Given the description of an element on the screen output the (x, y) to click on. 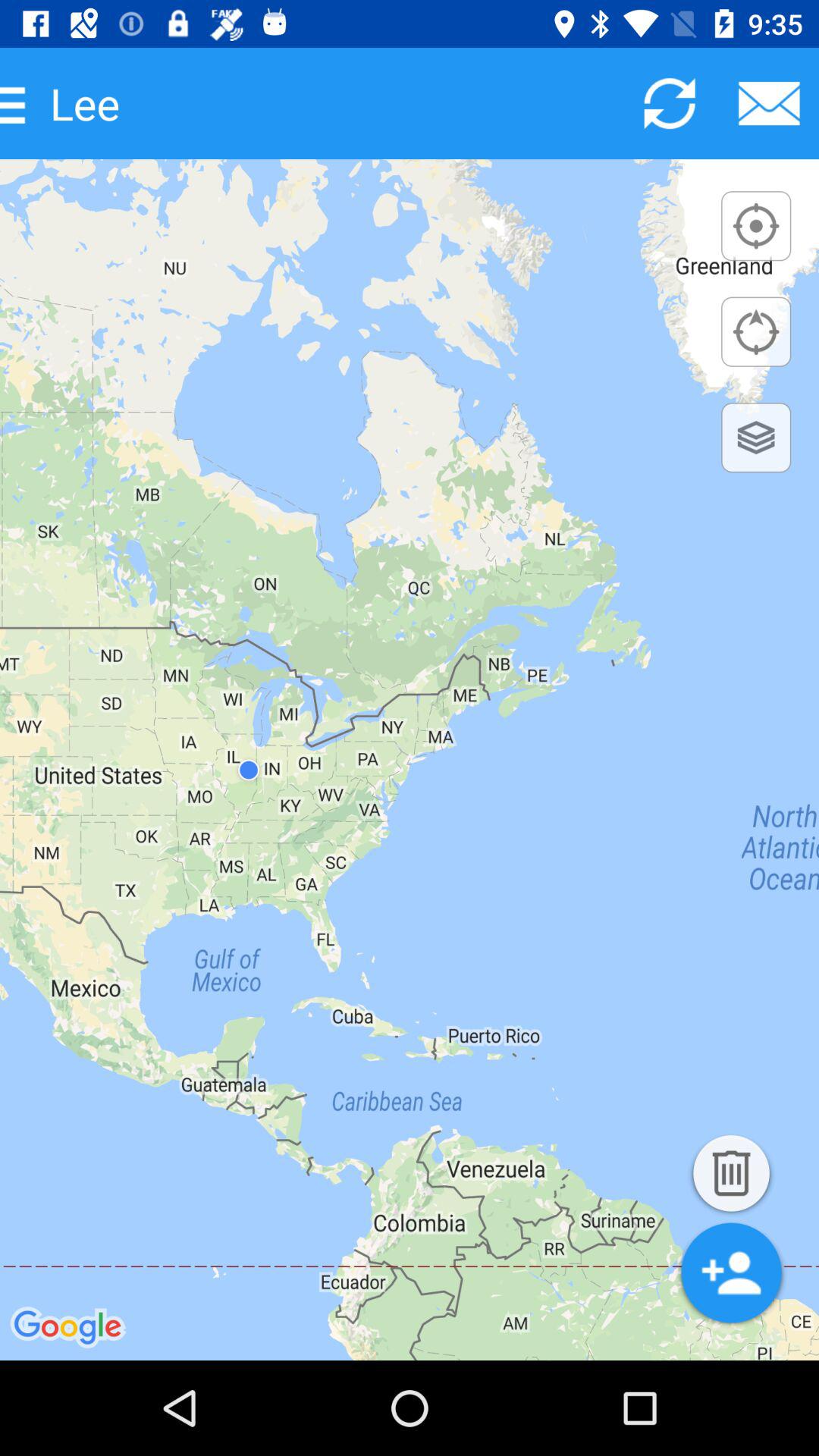
reload page (669, 103)
